Given the description of an element on the screen output the (x, y) to click on. 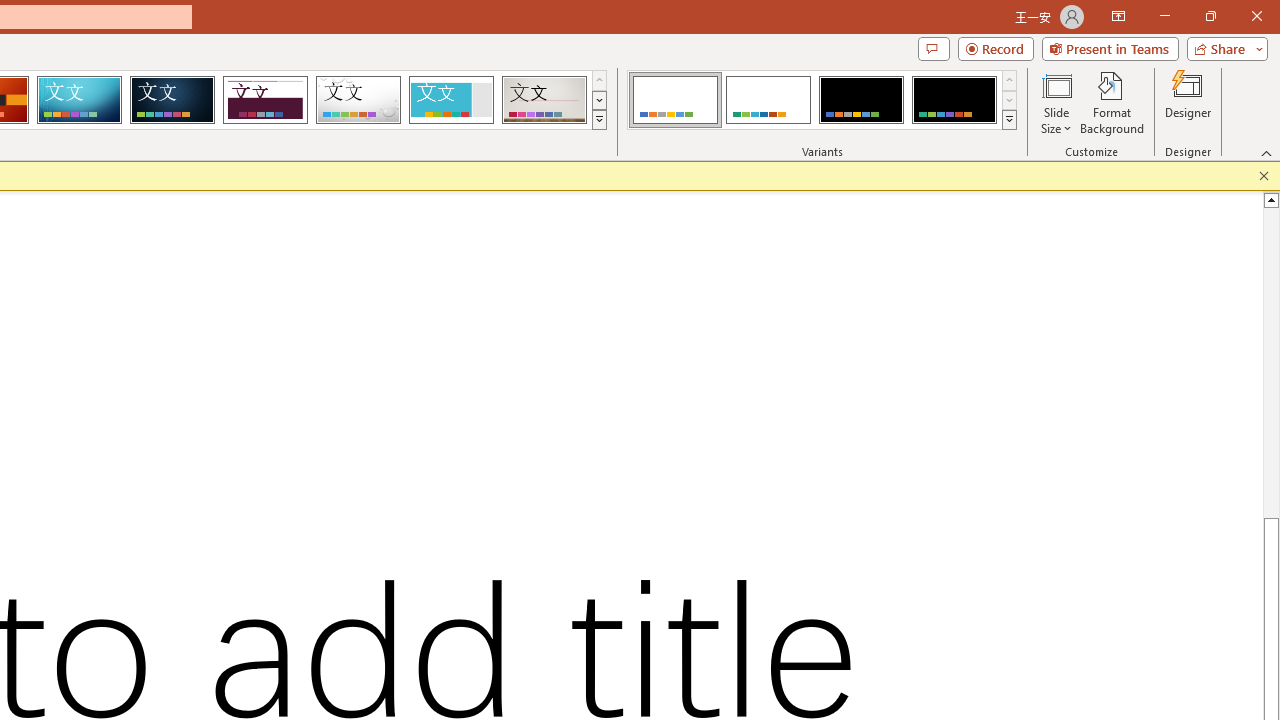
Close this message (1263, 176)
Variants (1009, 120)
AutomationID: ThemeVariantsGallery (822, 99)
Office Theme Variant 1 (674, 100)
Circuit (79, 100)
Themes (598, 120)
